Given the description of an element on the screen output the (x, y) to click on. 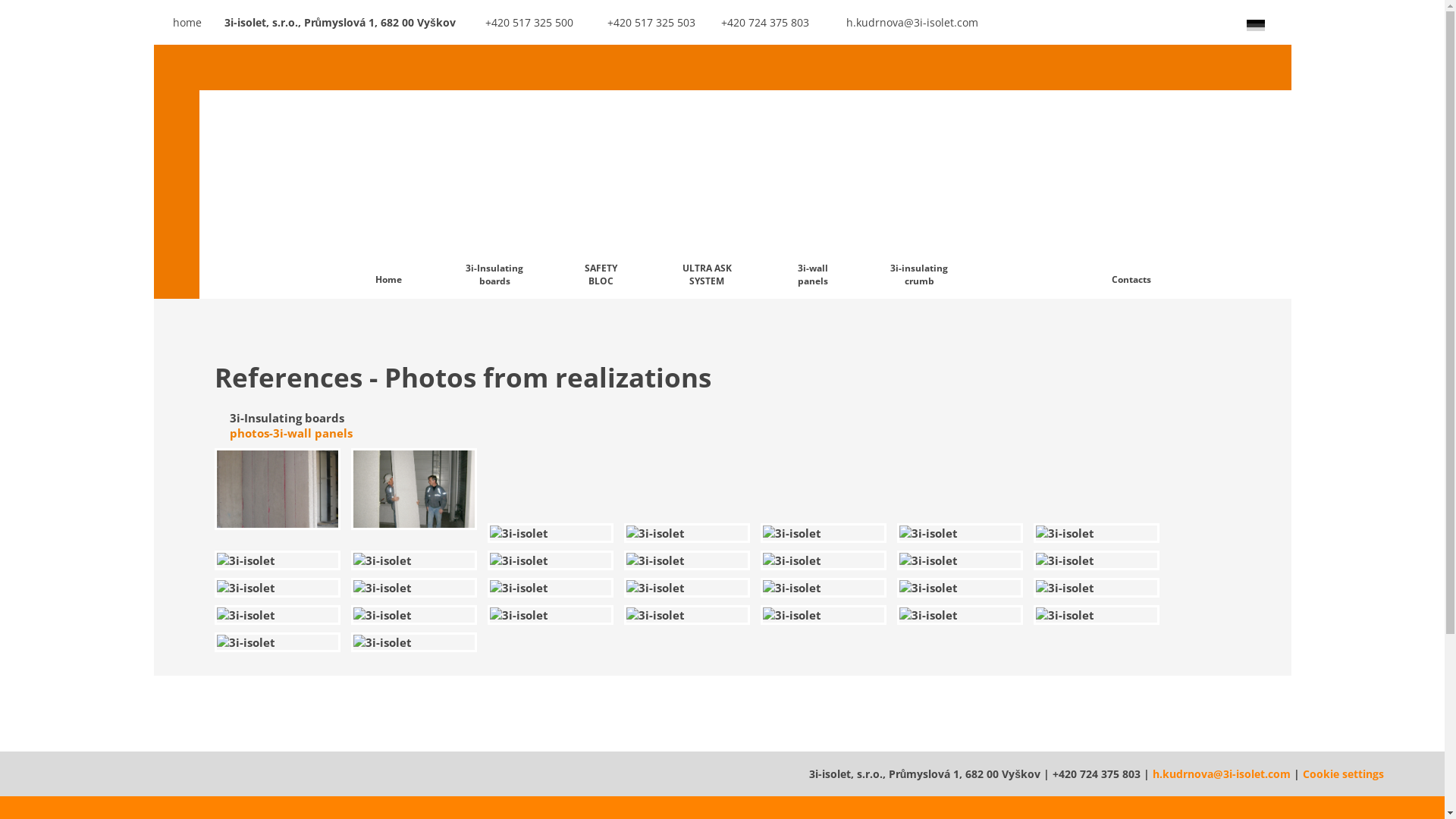
3i-isolet Element type: hover (277, 614)
3i-isolet Element type: hover (413, 559)
3i-isolet Element type: hover (413, 488)
3i-isolet Element type: hover (277, 488)
3i-isolet Element type: hover (277, 559)
3i-isolet Element type: hover (823, 559)
3i-isolet Element type: hover (1096, 587)
3i-isolet Element type: hover (1096, 559)
+420 517 325 503 Element type: text (637, 22)
3i-isolet Element type: hover (823, 532)
3i-isolet Element type: hover (959, 559)
3i-isolet Element type: hover (550, 559)
3i-insulating
crumb Element type: text (919, 194)
3i-isolet Element type: hover (686, 587)
Cookie settings Element type: text (1342, 773)
3i-isolet Element type: hover (413, 587)
3i-isolet Element type: hover (550, 532)
ULTRA ASK
SYSTEM Element type: text (706, 194)
3i-isolet Element type: hover (1096, 532)
3i-isolet Element type: hover (959, 614)
3i-wall
panels Element type: text (812, 194)
Home Element type: text (388, 194)
3i-isolet Element type: hover (959, 532)
+420 724 375 803 Element type: text (757, 22)
3i-isolet Element type: hover (686, 532)
3i-isolet Element type: hover (413, 614)
3i-isolet Element type: hover (550, 614)
Contacts Element type: text (1131, 194)
3i-isolet Element type: hover (823, 587)
3i-isolet Element type: hover (277, 641)
3i-isolet Element type: hover (550, 587)
3i-Insulating boards Element type: text (286, 417)
h.kudrnova@3i-isolet.com Element type: text (1221, 773)
3i-isolet Element type: hover (277, 587)
3i-isolet Element type: hover (959, 587)
3i-isolet Element type: hover (823, 614)
SAFETY
BLOC Element type: text (600, 194)
+420 517 325 500 Element type: text (519, 22)
3i-isolet Element type: hover (413, 641)
h.kudrnova@3i-isolet.com Element type: text (898, 22)
3i-isolet Element type: hover (686, 559)
photos-3i-wall panels Element type: text (290, 432)
home Element type: text (176, 22)
References
Realization Photos Element type: text (1025, 171)
3i-isolet Element type: hover (1096, 614)
3i-isolet Element type: hover (686, 614)
3i-Insulating
boards Element type: text (494, 194)
